Given the description of an element on the screen output the (x, y) to click on. 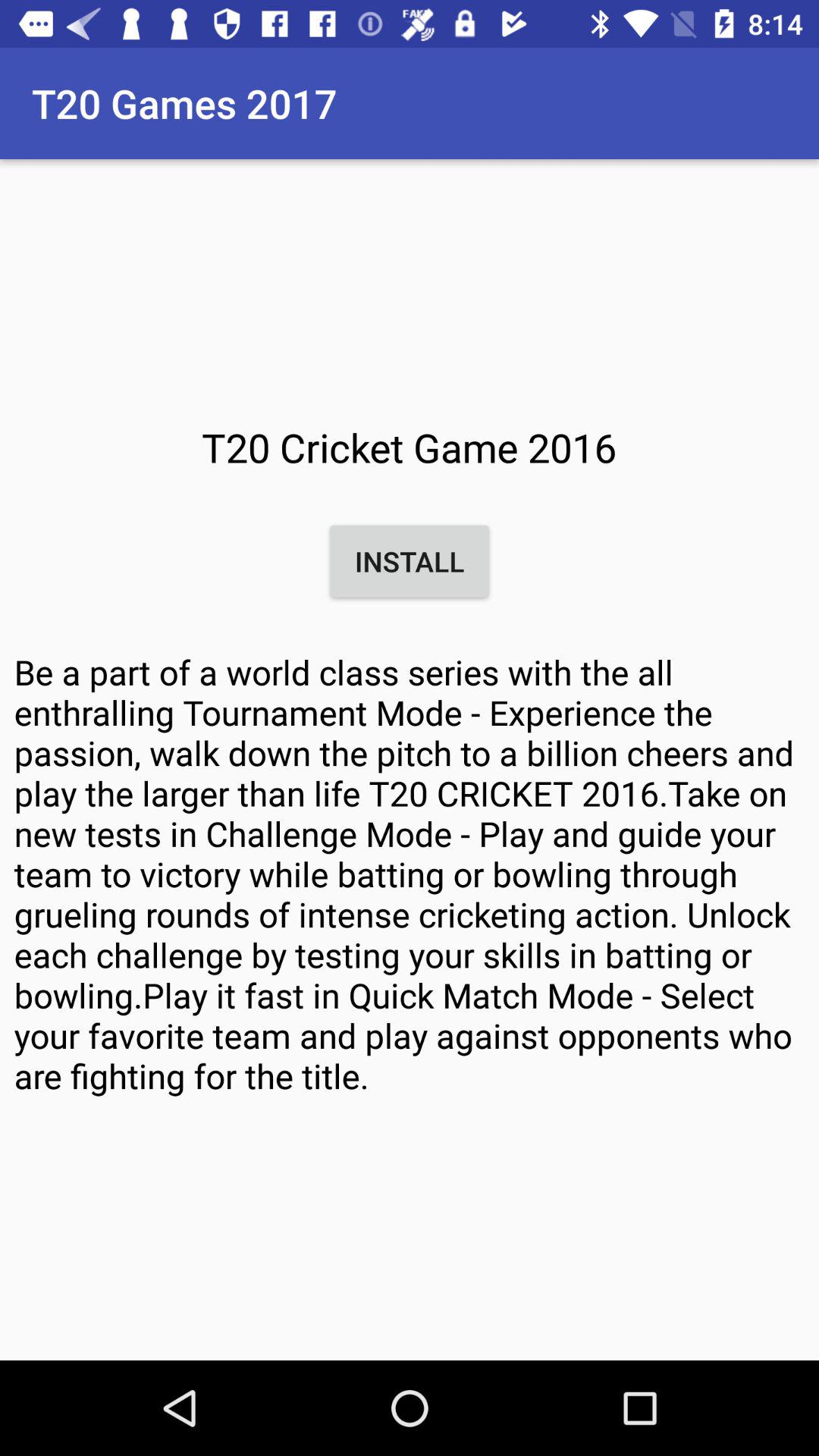
launch the item below the t20 cricket game icon (409, 561)
